Given the description of an element on the screen output the (x, y) to click on. 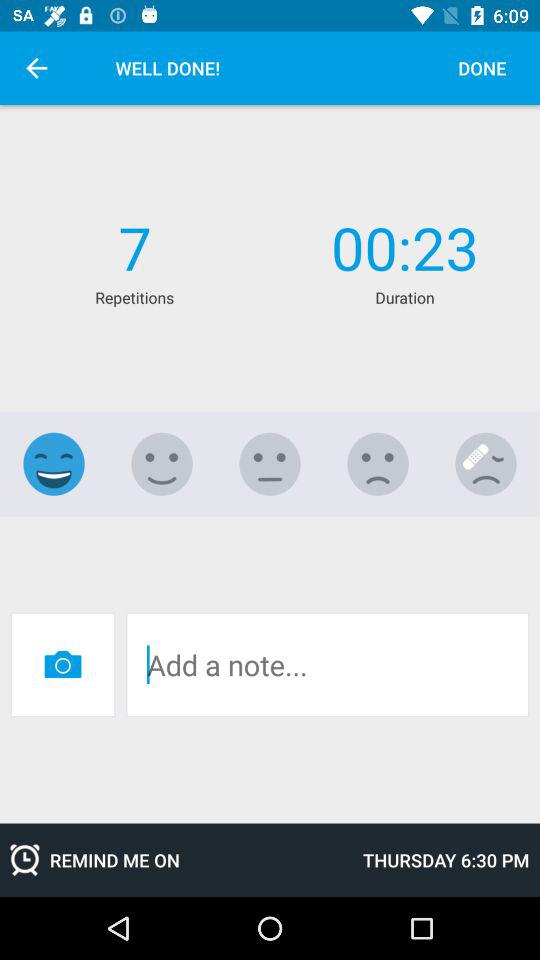
rate as smiley face (54, 463)
